Given the description of an element on the screen output the (x, y) to click on. 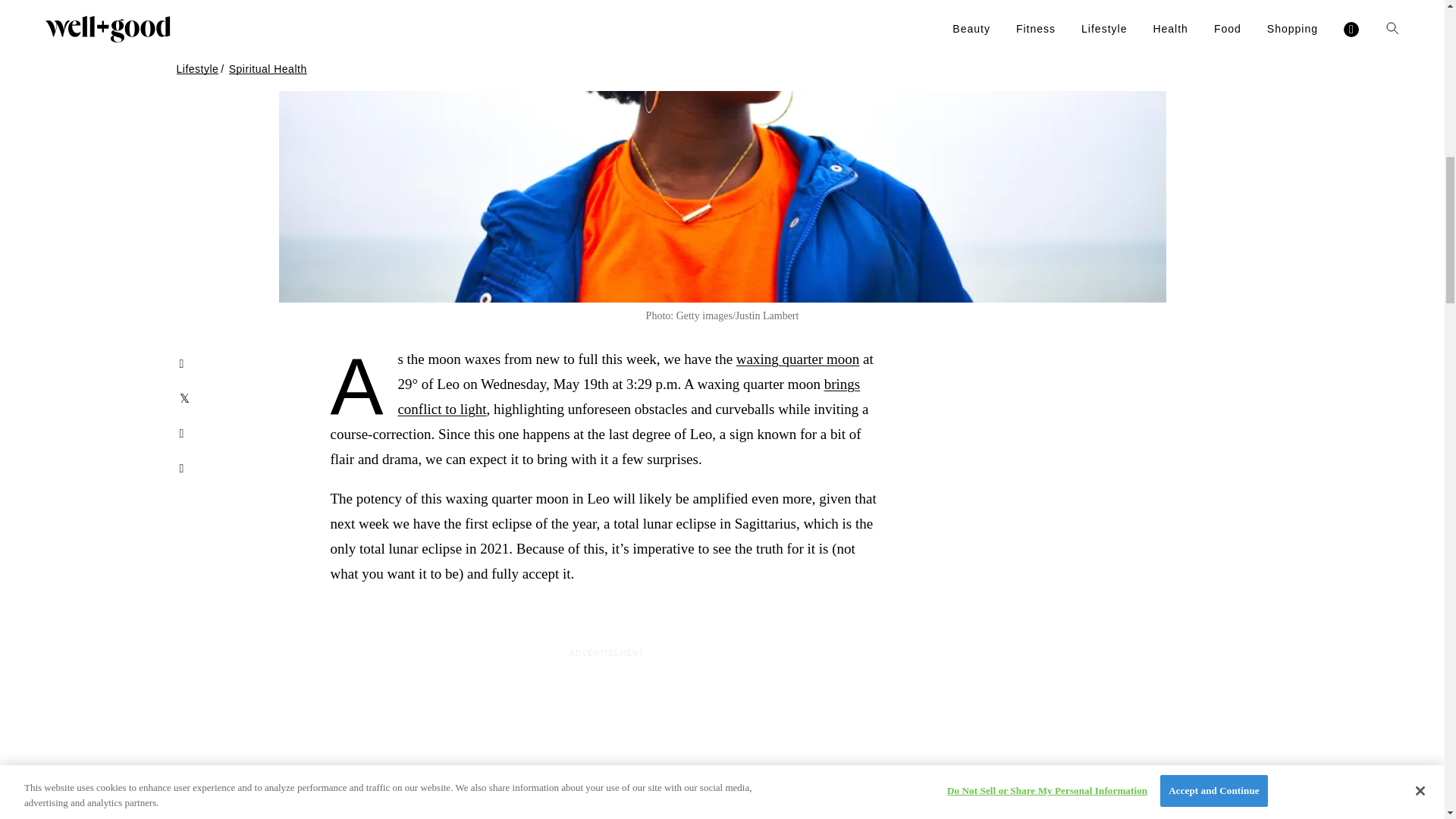
3rd party ad content (606, 741)
